Given the description of an element on the screen output the (x, y) to click on. 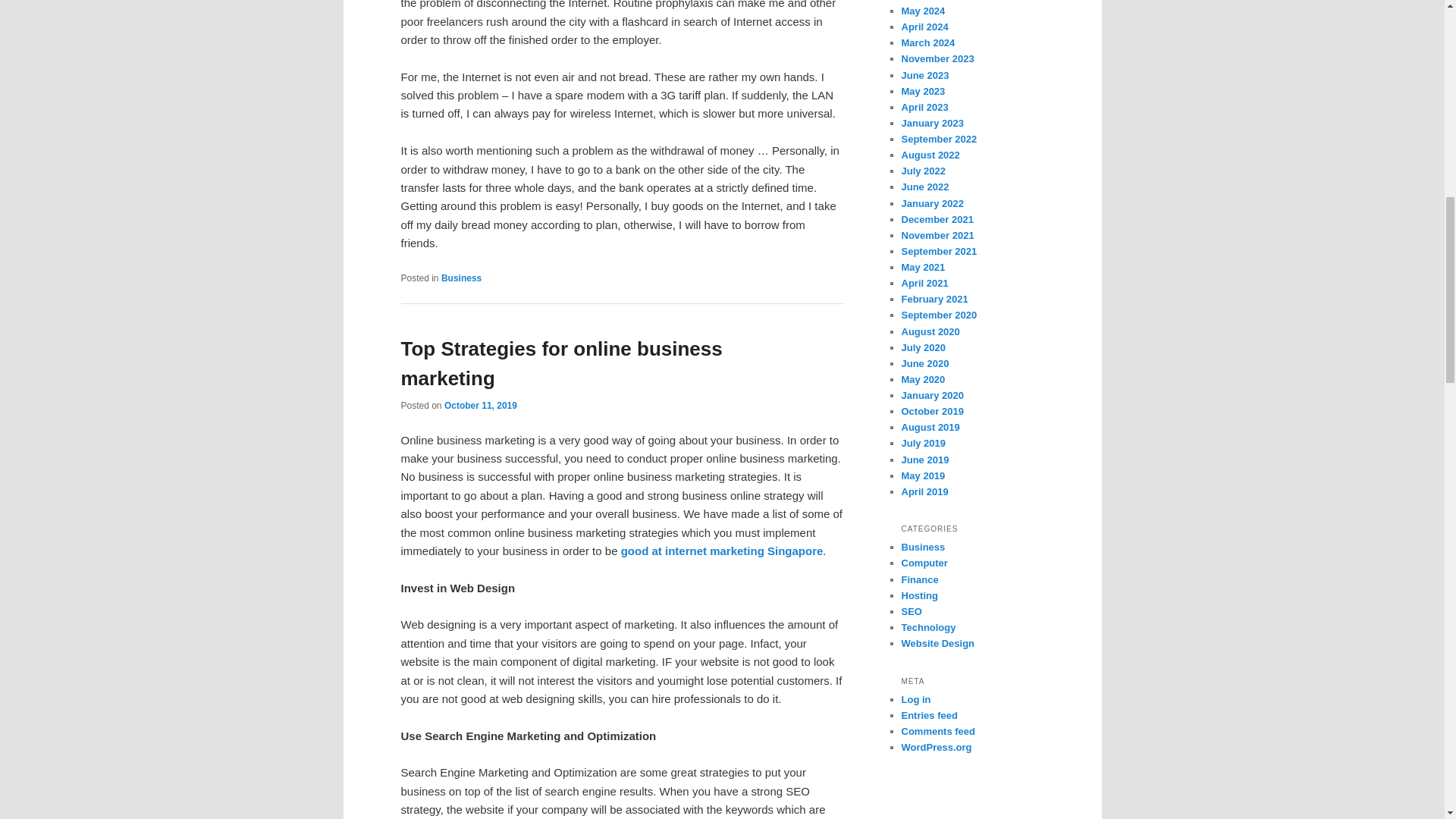
March 2024 (928, 42)
May 2023 (922, 91)
October 11, 2019 (480, 405)
good at internet marketing Singapore (722, 550)
May 2024 (922, 10)
April 2023 (924, 107)
Business (461, 277)
April 2024 (924, 26)
November 2023 (937, 58)
June 2024 (925, 0)
